Given the description of an element on the screen output the (x, y) to click on. 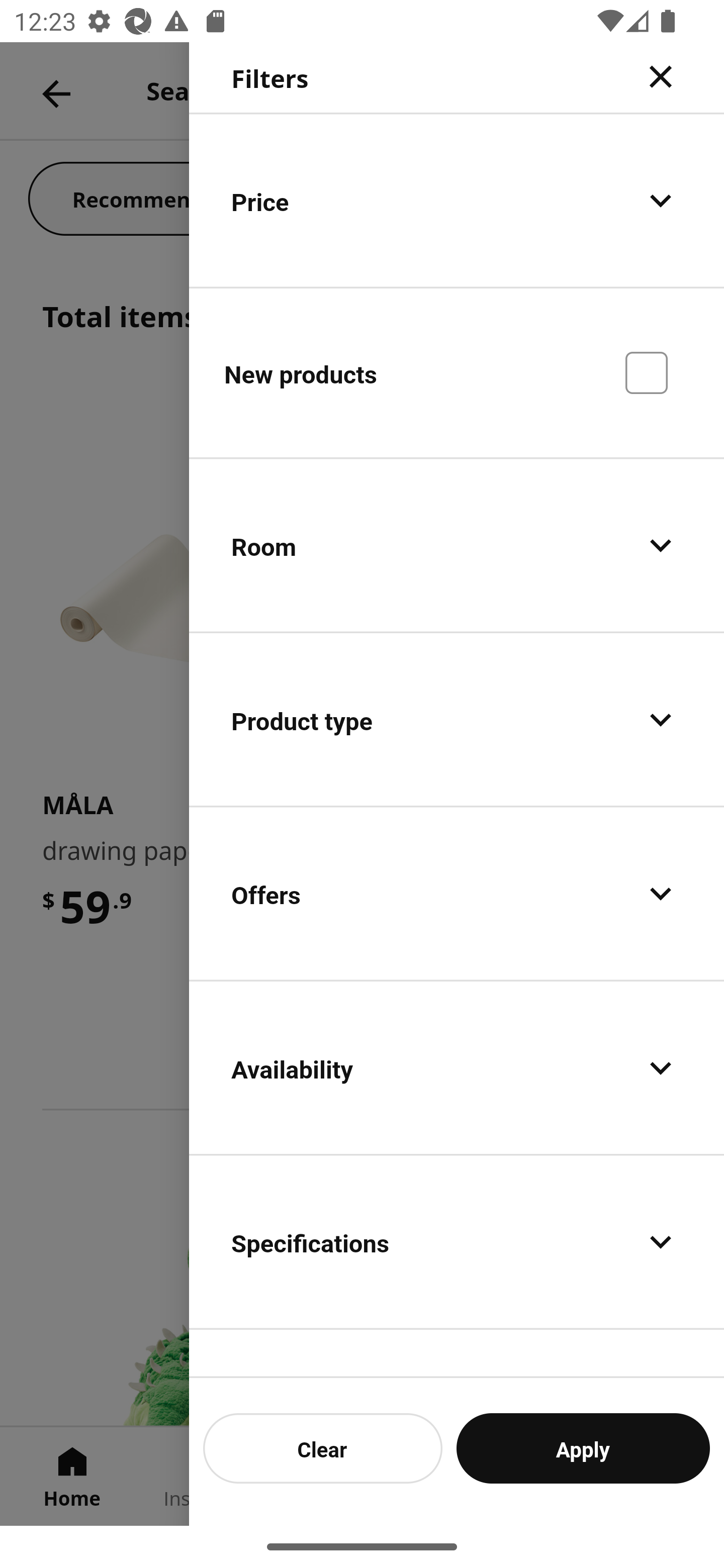
Price (456, 200)
New products (456, 371)
Room (456, 545)
Product type (456, 719)
Offers (456, 893)
Availability (456, 1067)
Specifications (456, 1241)
Clear (322, 1447)
Apply (583, 1447)
